Given the description of an element on the screen output the (x, y) to click on. 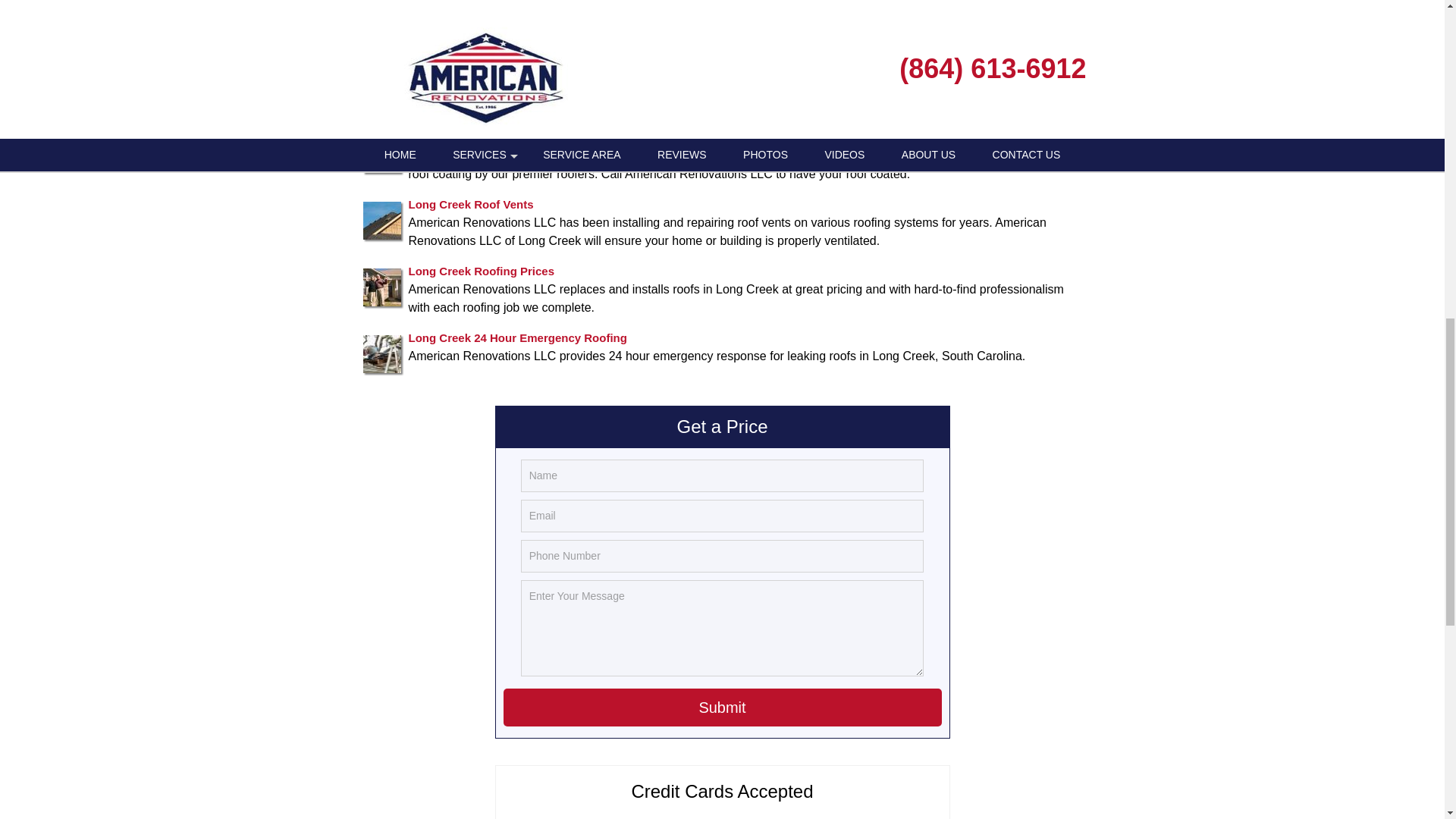
Long Creek Roof Coating (475, 136)
Long Creek Roof Vents (469, 203)
Long Creek 24 Hour Emergency Roofing (516, 336)
Long Creek Flat Roofs (468, 69)
Long Creek Roofing Prices (480, 269)
Long Creek Metal Roofs (472, 4)
